Given the description of an element on the screen output the (x, y) to click on. 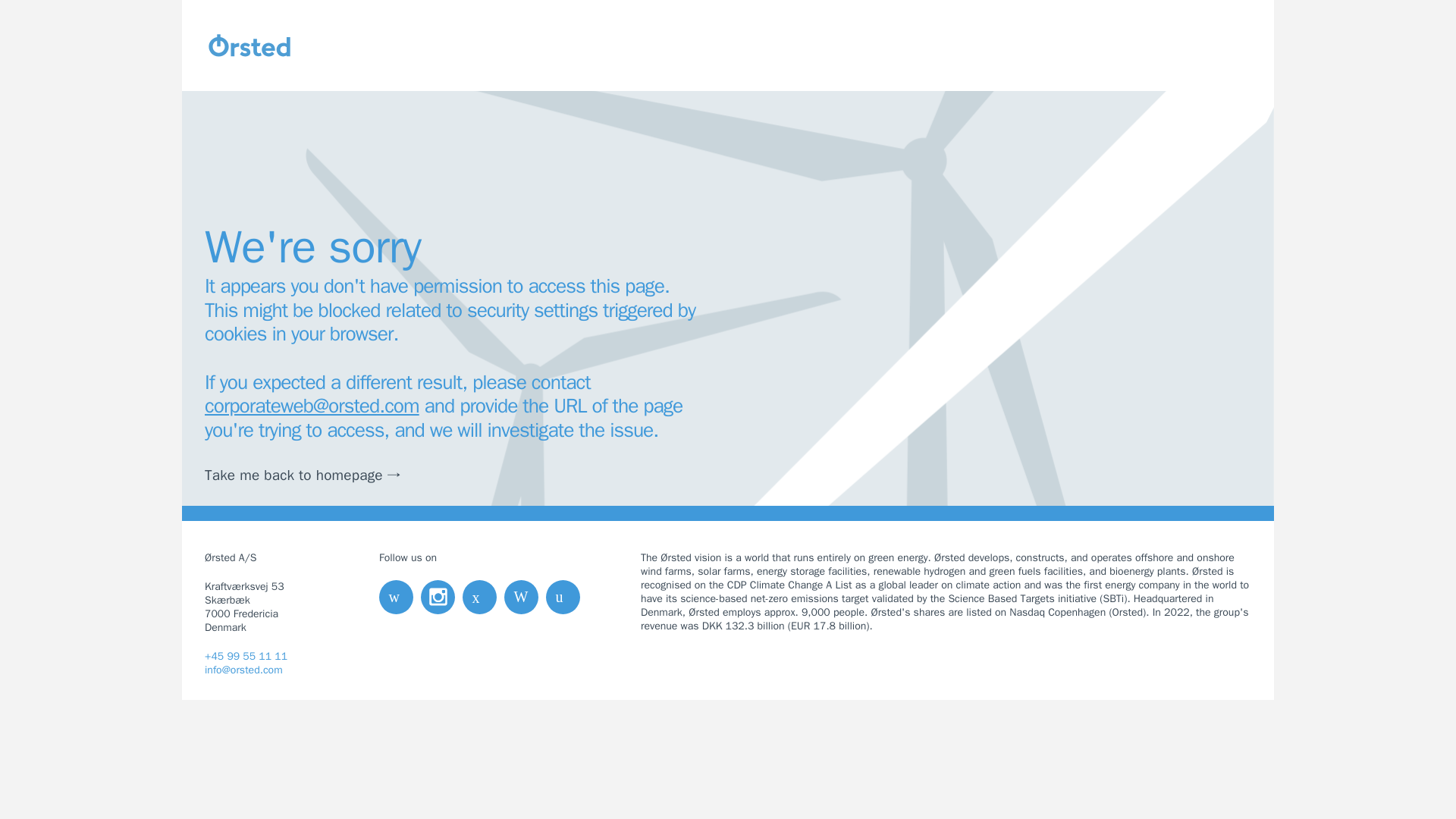
Take me back to homepage (312, 475)
